Given the description of an element on the screen output the (x, y) to click on. 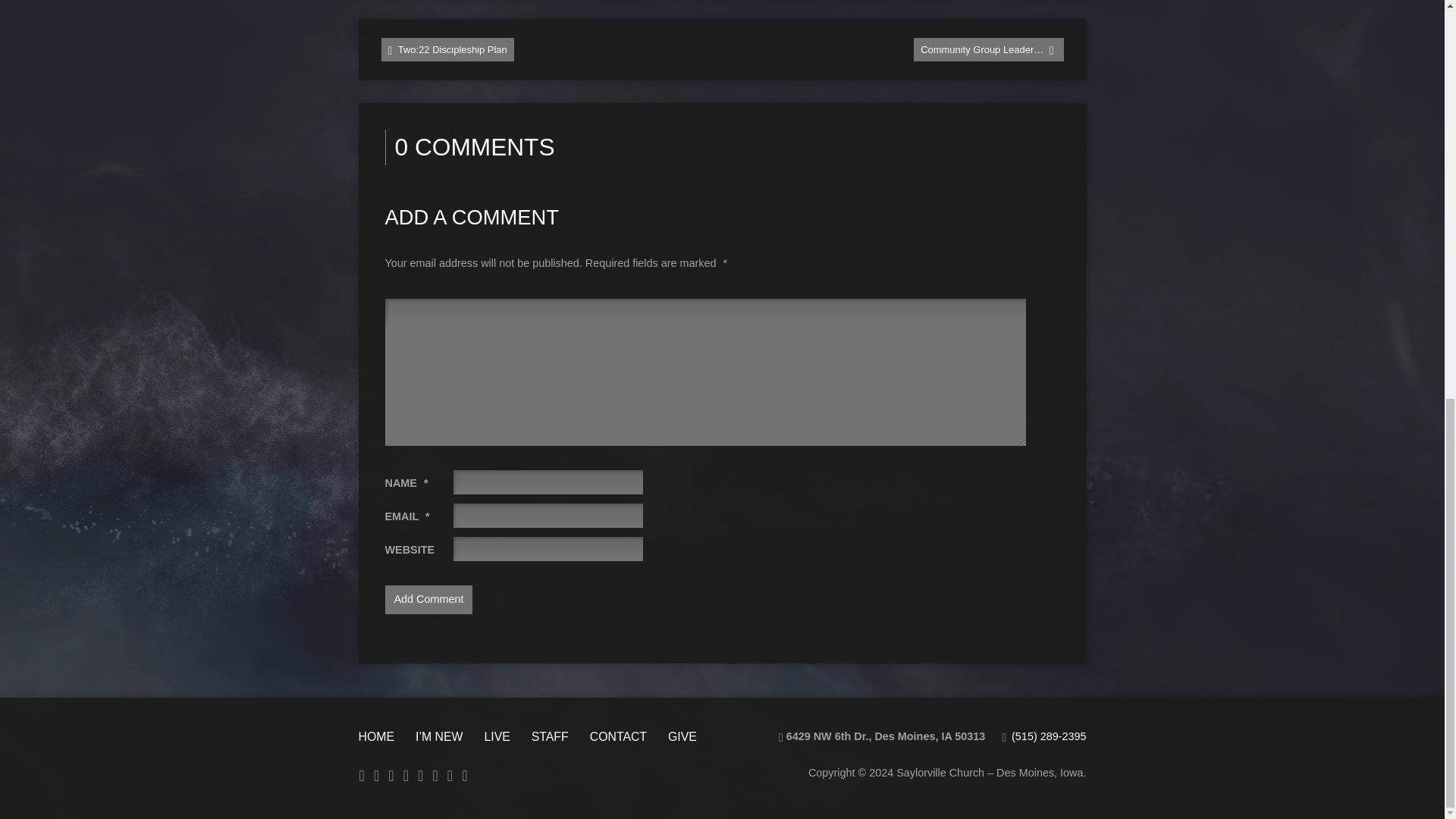
Twitter (420, 775)
RSS (362, 775)
Podcast (376, 775)
Instagram (406, 775)
Add Comment (429, 599)
Facebook (390, 775)
